Given the description of an element on the screen output the (x, y) to click on. 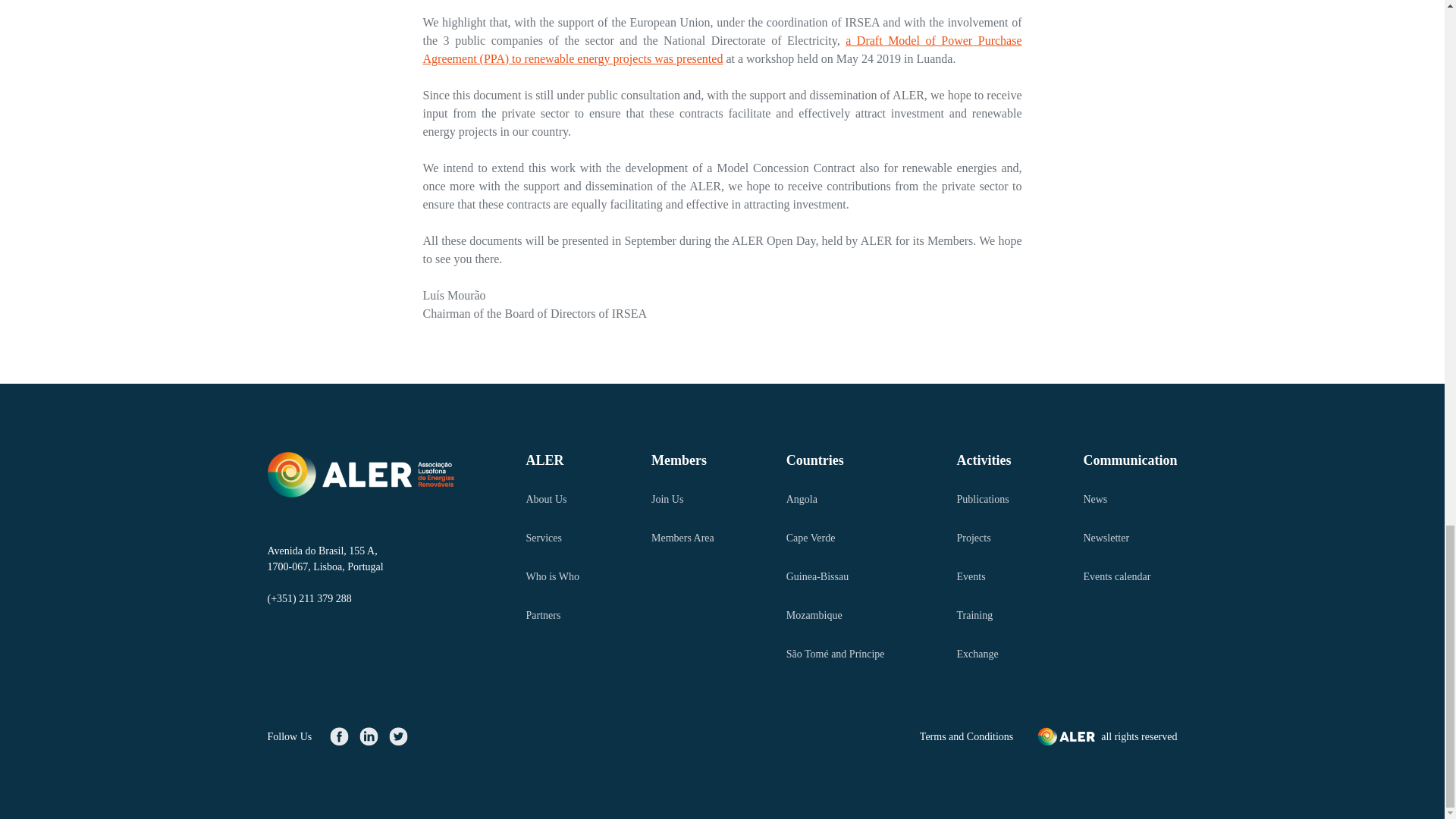
Facebook (338, 735)
About Us (552, 498)
Twitter (398, 735)
Who is Who (552, 576)
Services (552, 537)
Linkedin (368, 735)
ALER (552, 460)
